Given the description of an element on the screen output the (x, y) to click on. 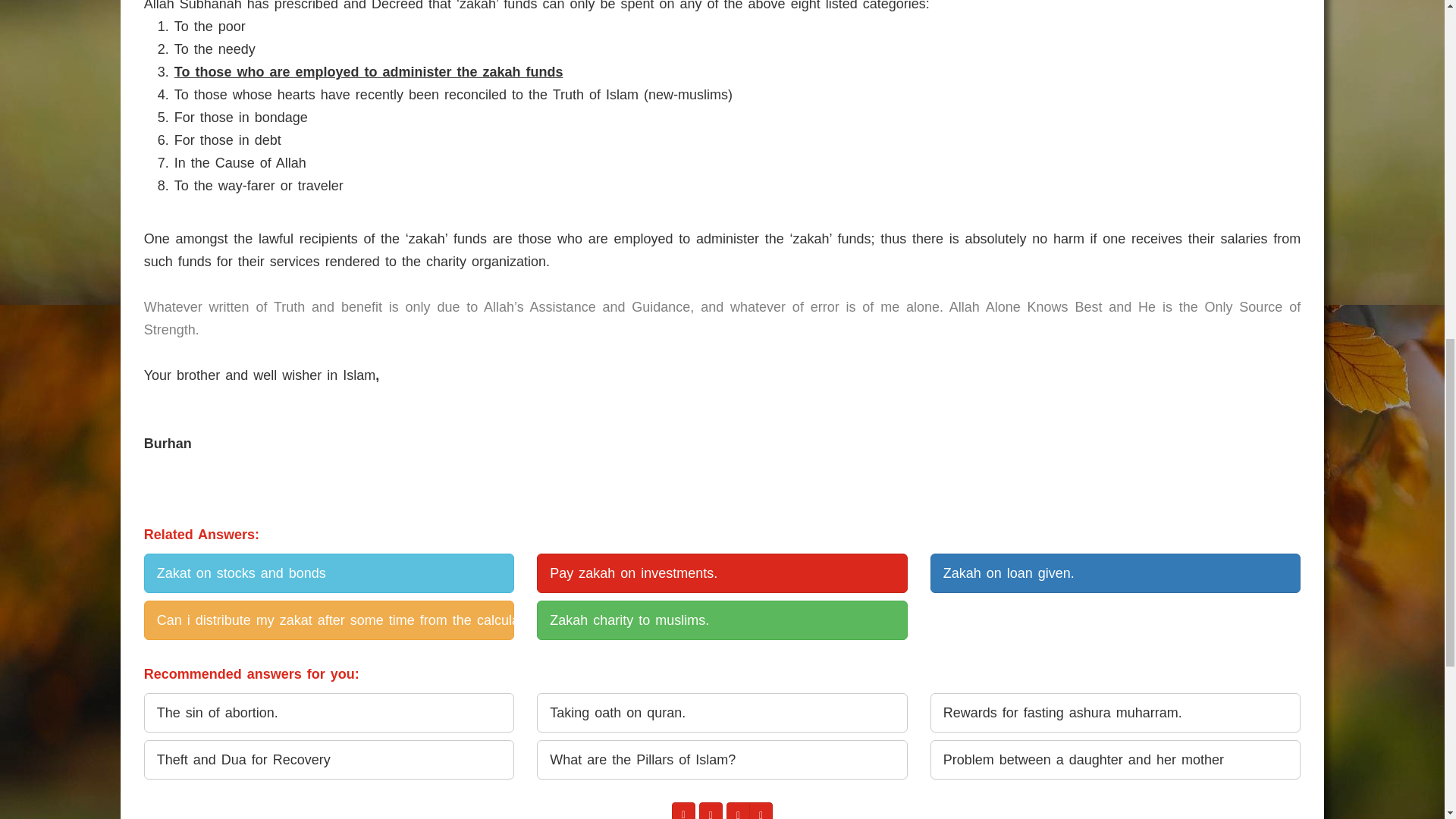
Rewards for fasting ashura muharram. (1115, 712)
Pay zakah on investments. (722, 572)
Zakah on loan given. (1115, 572)
The sin of abortion. (328, 712)
Zakat on stocks and bonds (328, 572)
Zakah charity to muslims. (722, 619)
Taking oath on quran. (722, 712)
Theft and Dua for Recovery (328, 759)
